Given the description of an element on the screen output the (x, y) to click on. 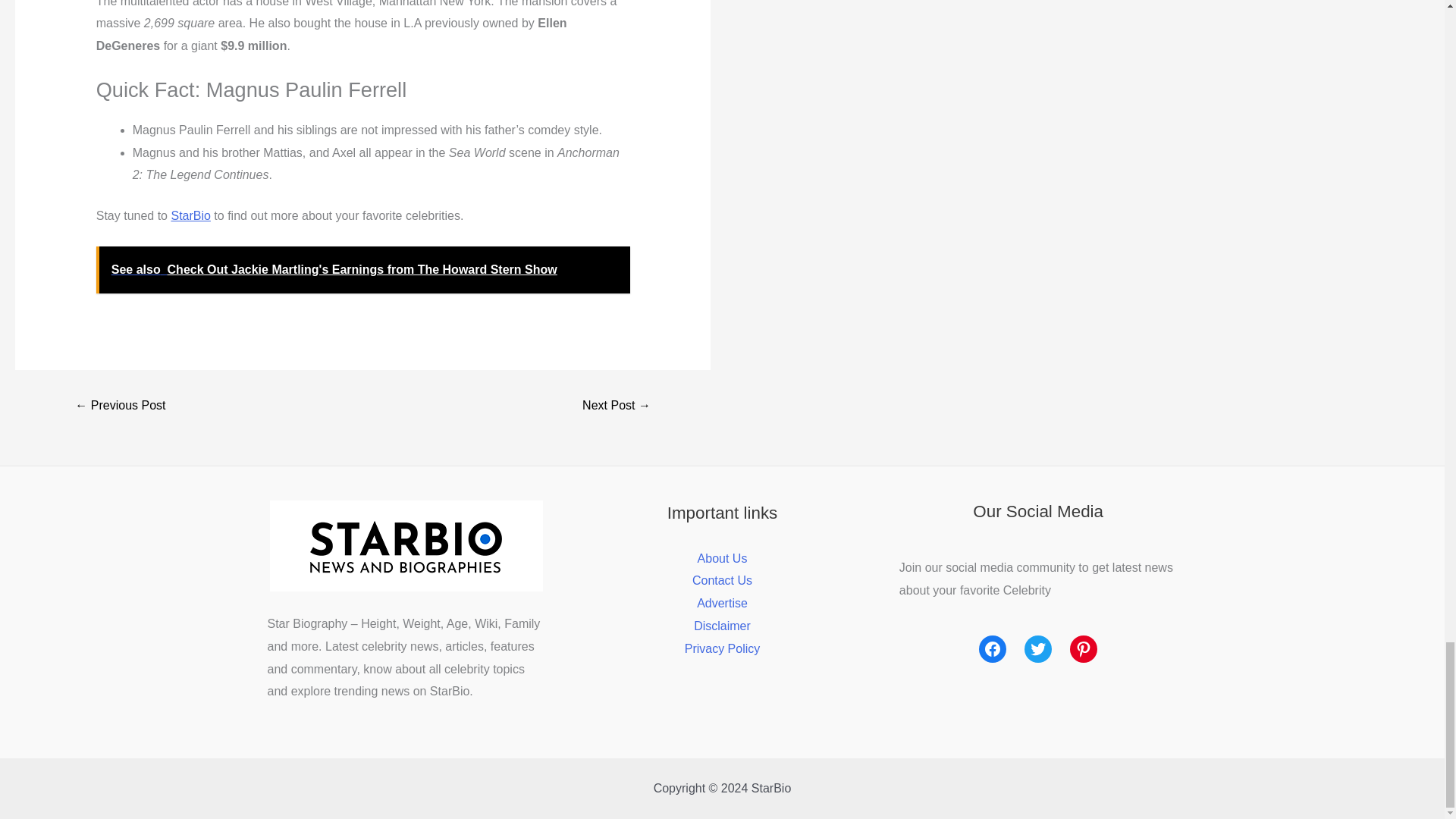
StarBio (189, 215)
